Given the description of an element on the screen output the (x, y) to click on. 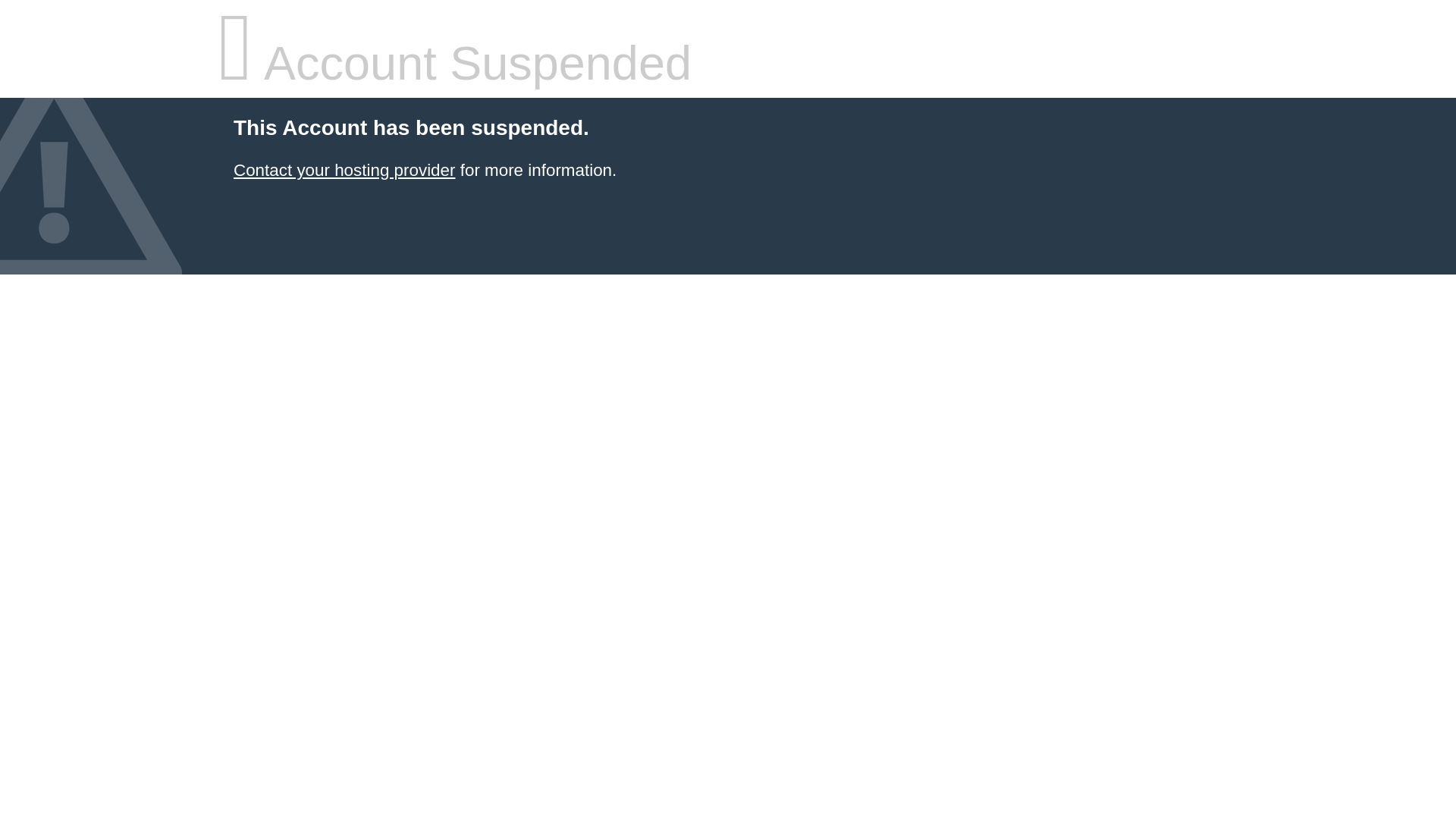
Contact your hosting provider (343, 169)
